Given the description of an element on the screen output the (x, y) to click on. 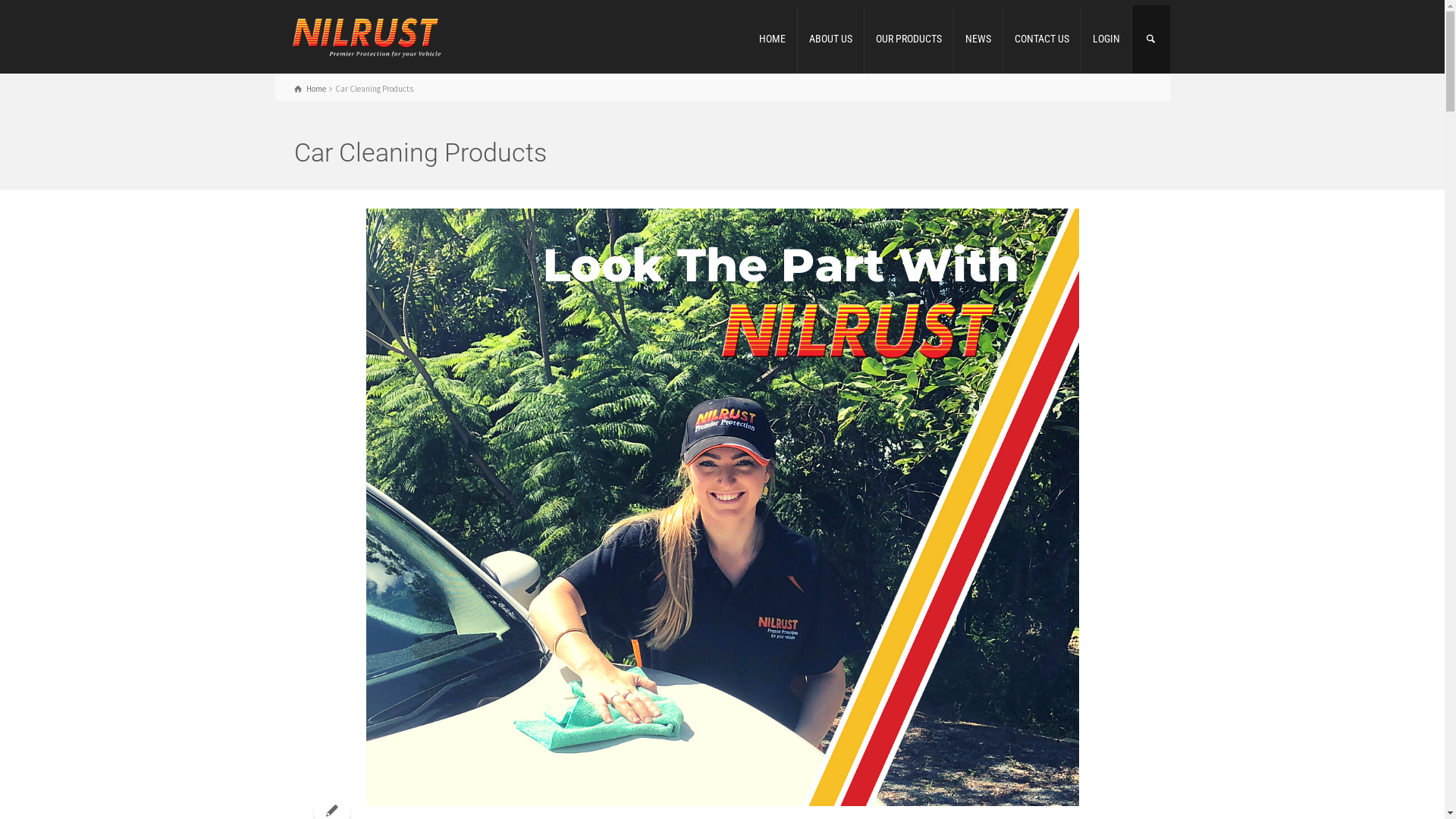
OUR PRODUCTS Element type: text (908, 39)
LOGIN Element type: text (1106, 39)
CONTACT US Element type: text (1042, 39)
Enlarge Image Element type: hover (721, 507)
Search Element type: hover (1151, 39)
Home Element type: text (310, 88)
Nilrust Element type: hover (365, 35)
NEWS Element type: text (978, 39)
ABOUT US Element type: text (830, 39)
HOME Element type: text (772, 39)
